Given the description of an element on the screen output the (x, y) to click on. 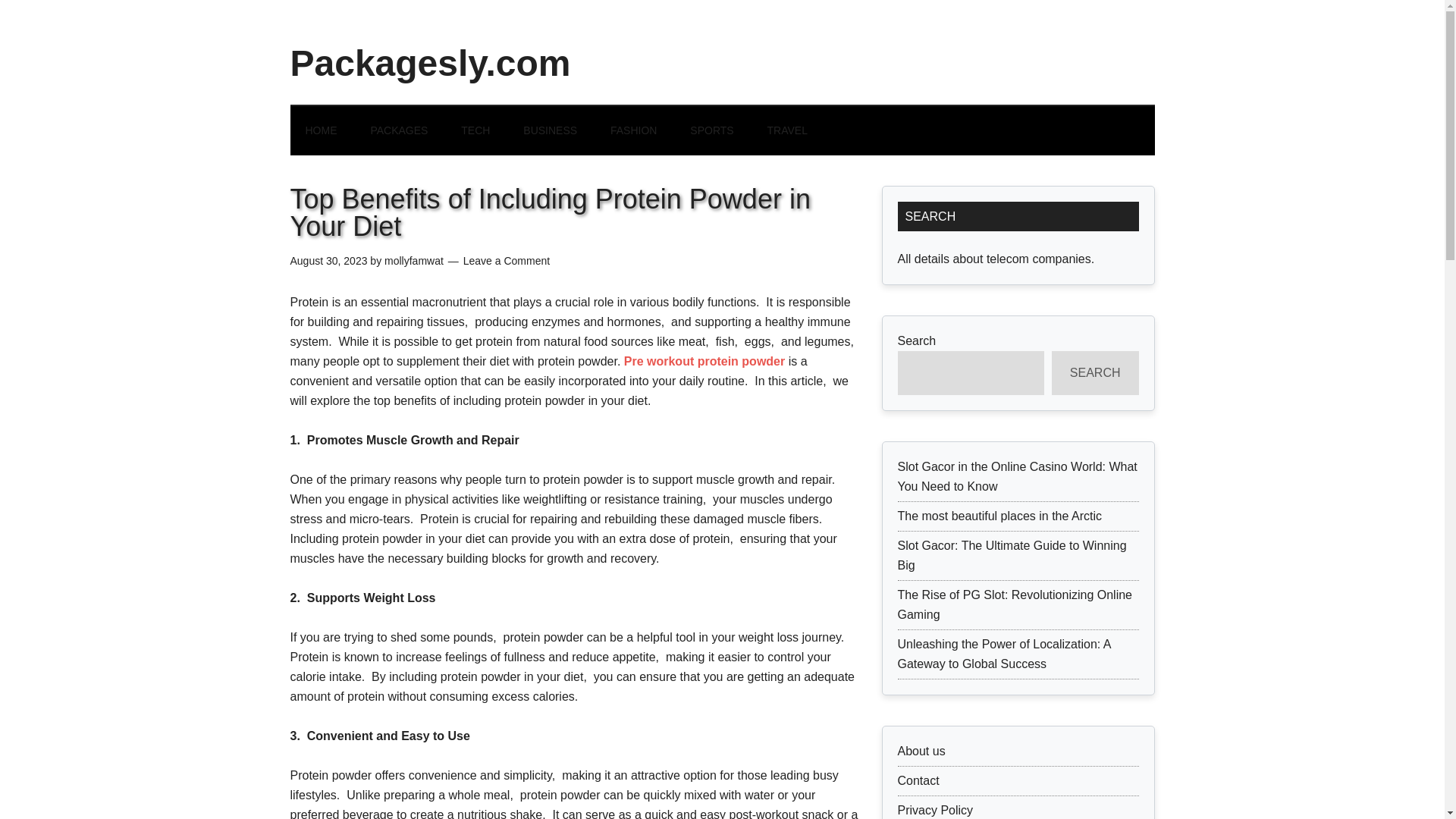
Packagesly.com (429, 63)
Privacy Policy (936, 809)
SPORTS (711, 130)
HOME (320, 130)
Leave a Comment (506, 260)
PACKAGES (398, 130)
TRAVEL (787, 130)
SEARCH (1094, 372)
mollyfamwat (414, 260)
